Given the description of an element on the screen output the (x, y) to click on. 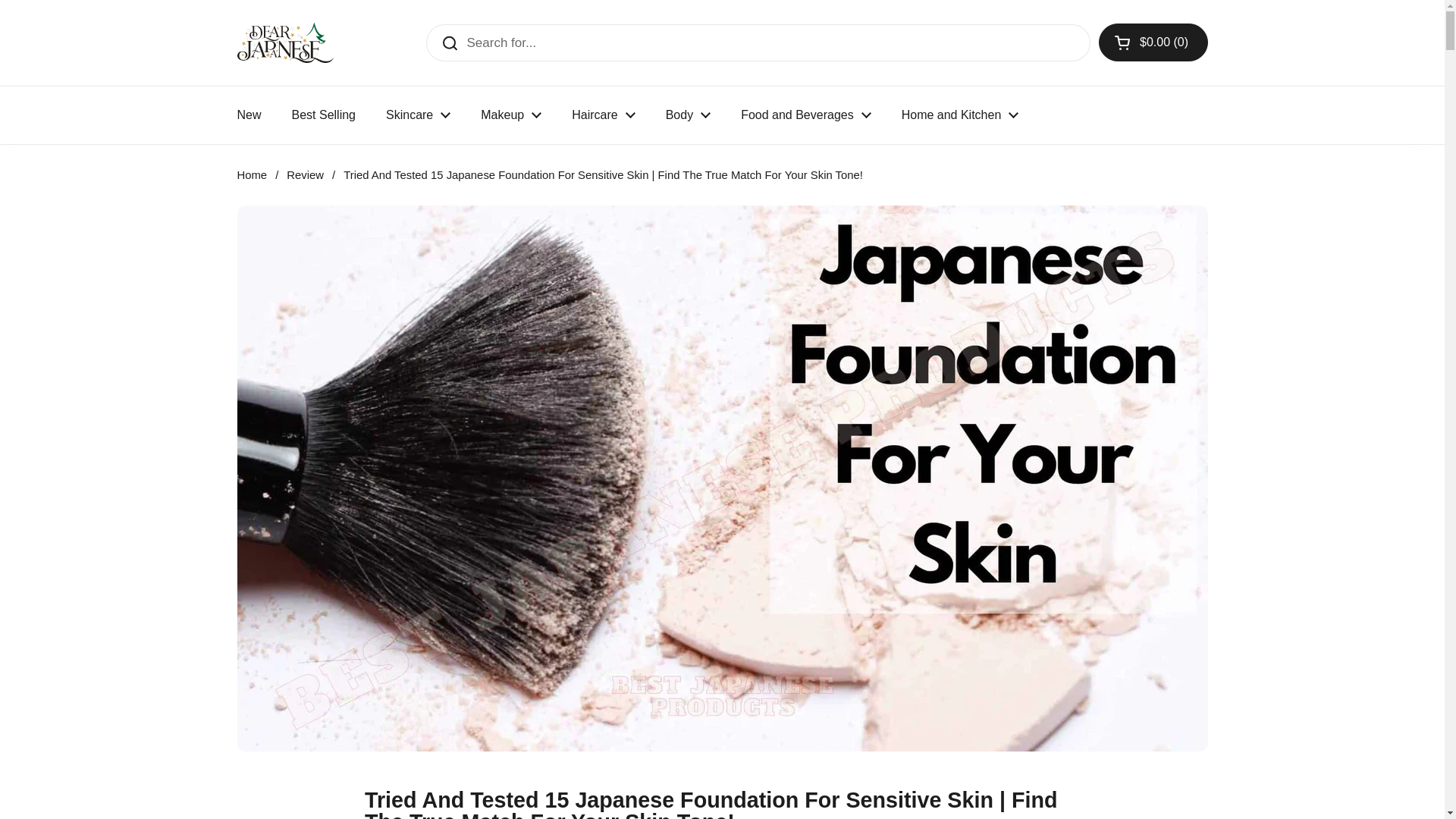
Open cart (1153, 42)
Body (687, 114)
New (248, 114)
Best Selling (323, 114)
Skincare (418, 114)
New (248, 114)
Makeup (510, 114)
Skincare (418, 114)
Makeup (510, 114)
Haircare (602, 114)
Best Japanese Products (284, 42)
Best Selling (323, 114)
